Given the description of an element on the screen output the (x, y) to click on. 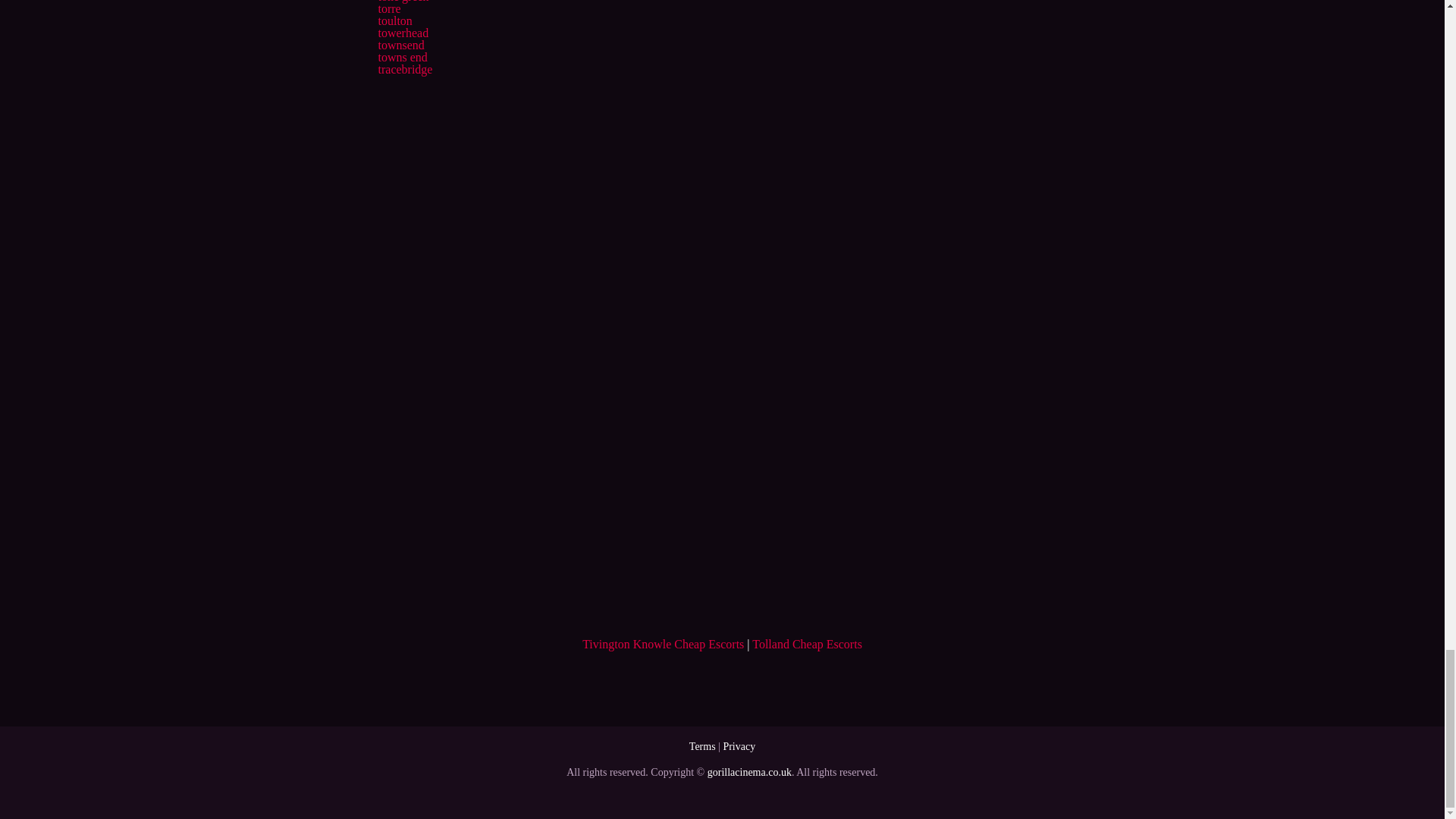
toulton (394, 20)
towns end (401, 56)
Tivington Knowle Cheap Escorts (663, 644)
townsend (400, 44)
Privacy (738, 746)
tone green (402, 1)
Terms (702, 746)
towerhead (402, 32)
Tolland Cheap Escorts (806, 644)
torre (388, 8)
